Given the description of an element on the screen output the (x, y) to click on. 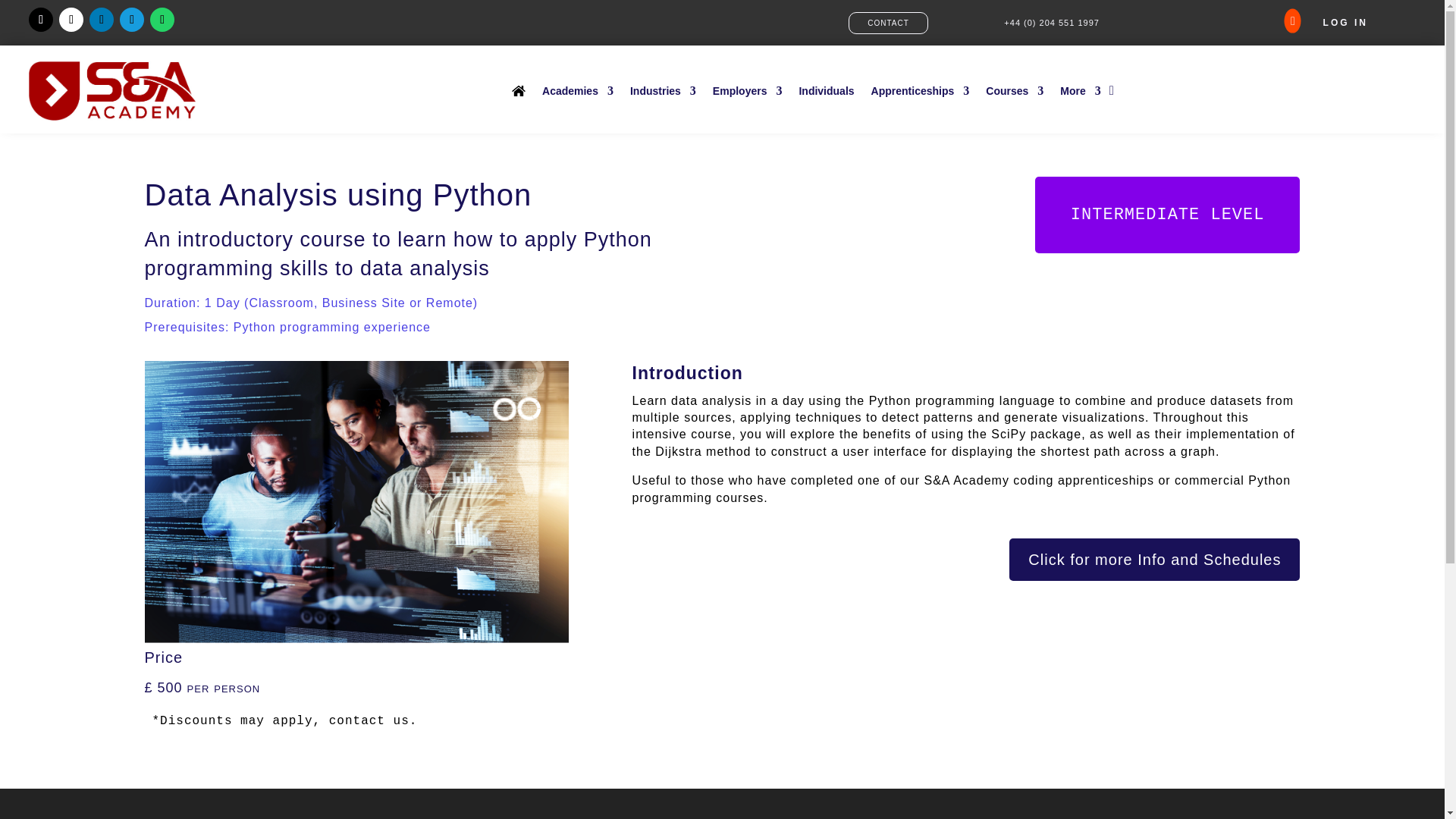
Follow on Telegram (131, 19)
Follow on LinkedIn (100, 19)
CONTACT (888, 23)
Follow on WhatsApp (161, 19)
Individuals (825, 90)
Employers (748, 90)
Follow on X (40, 19)
Follow on Instagram (70, 19)
Industries (662, 90)
Academies (576, 90)
